Given the description of an element on the screen output the (x, y) to click on. 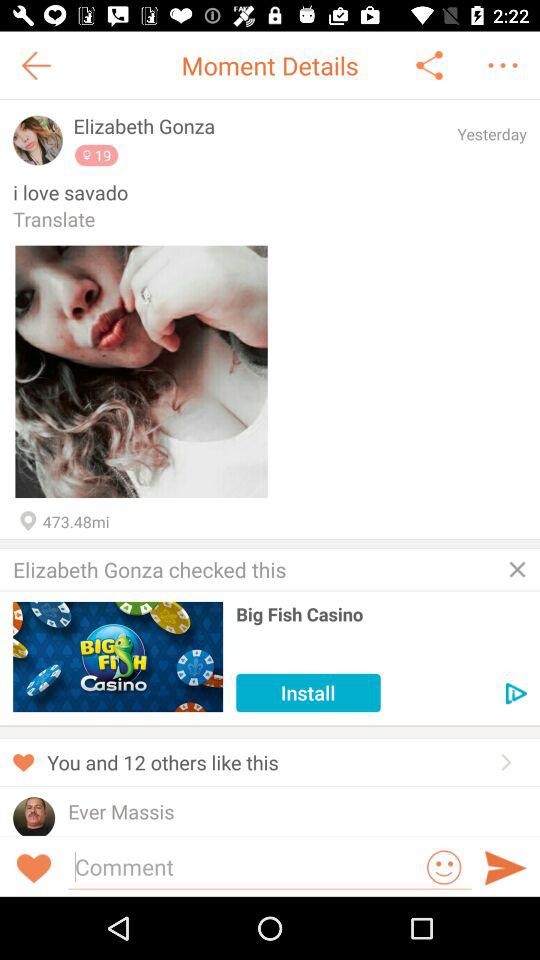
press app below the translate icon (141, 371)
